Given the description of an element on the screen output the (x, y) to click on. 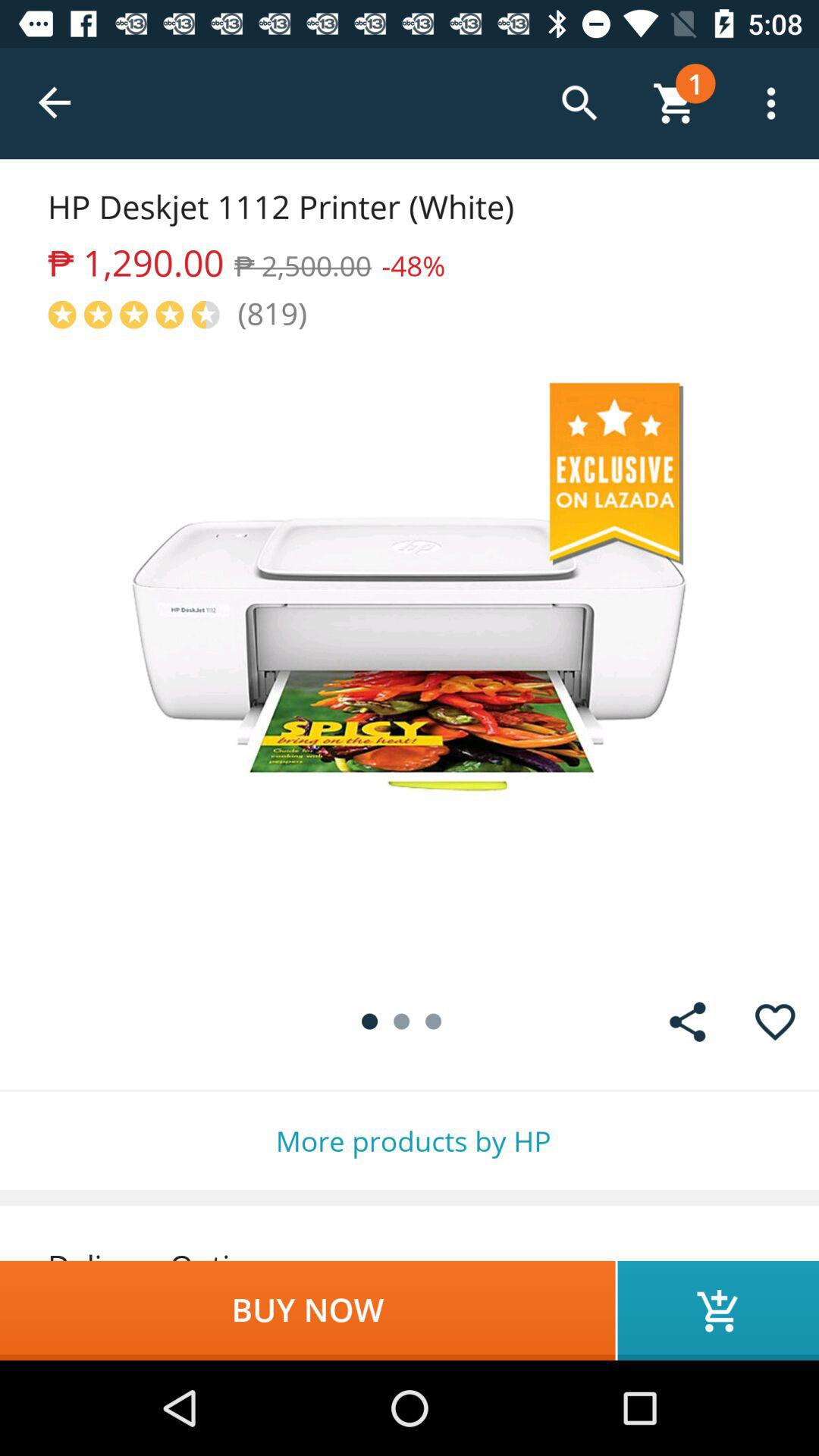
launch the more products by item (409, 1140)
